Given the description of an element on the screen output the (x, y) to click on. 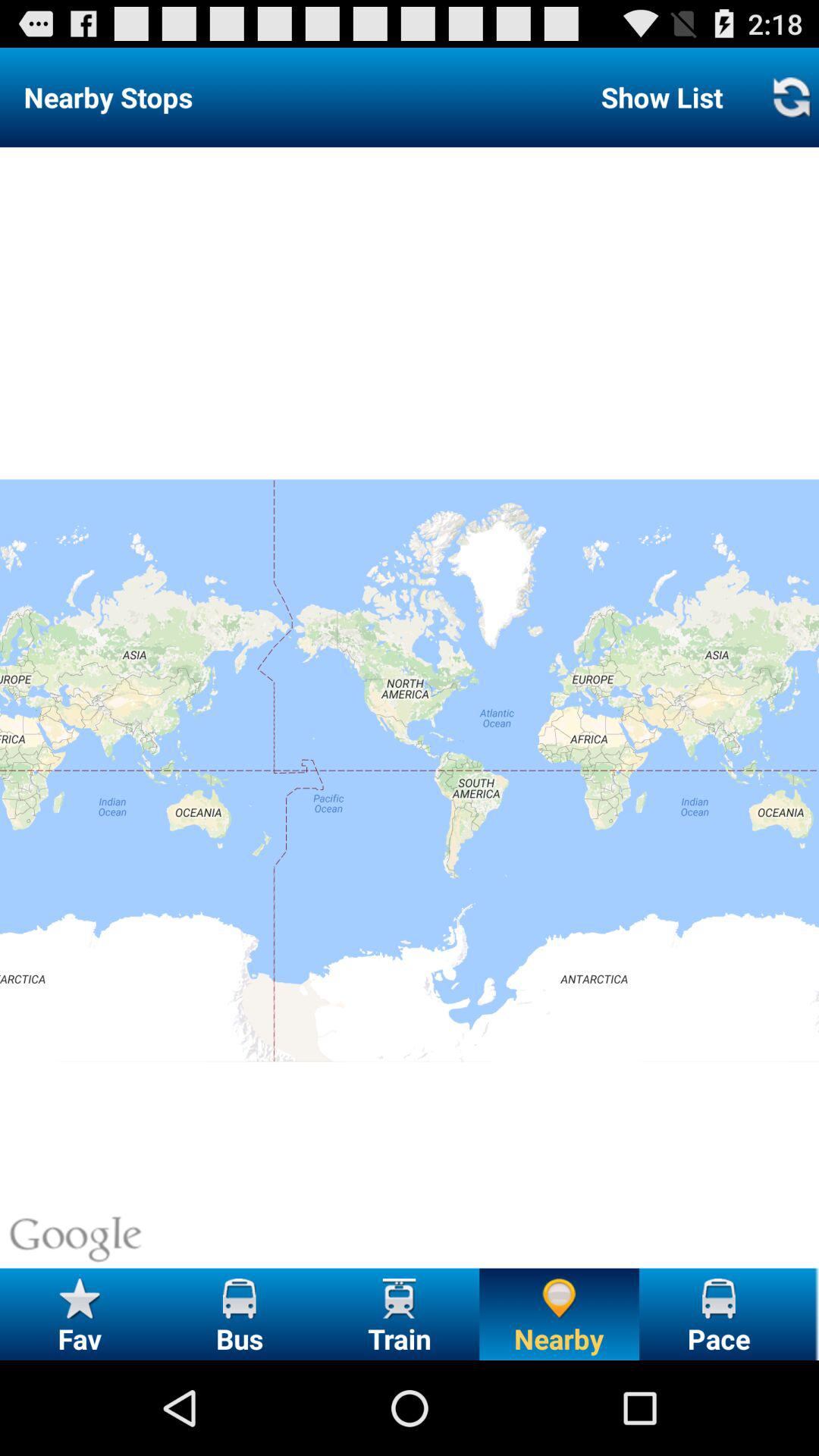
click on the fav icon (79, 1298)
select the icon which is above pace on a page (718, 1298)
select nearby option at the bottom of the page (559, 1313)
click on the refresh symbol which is beside show list (791, 97)
